Given the description of an element on the screen output the (x, y) to click on. 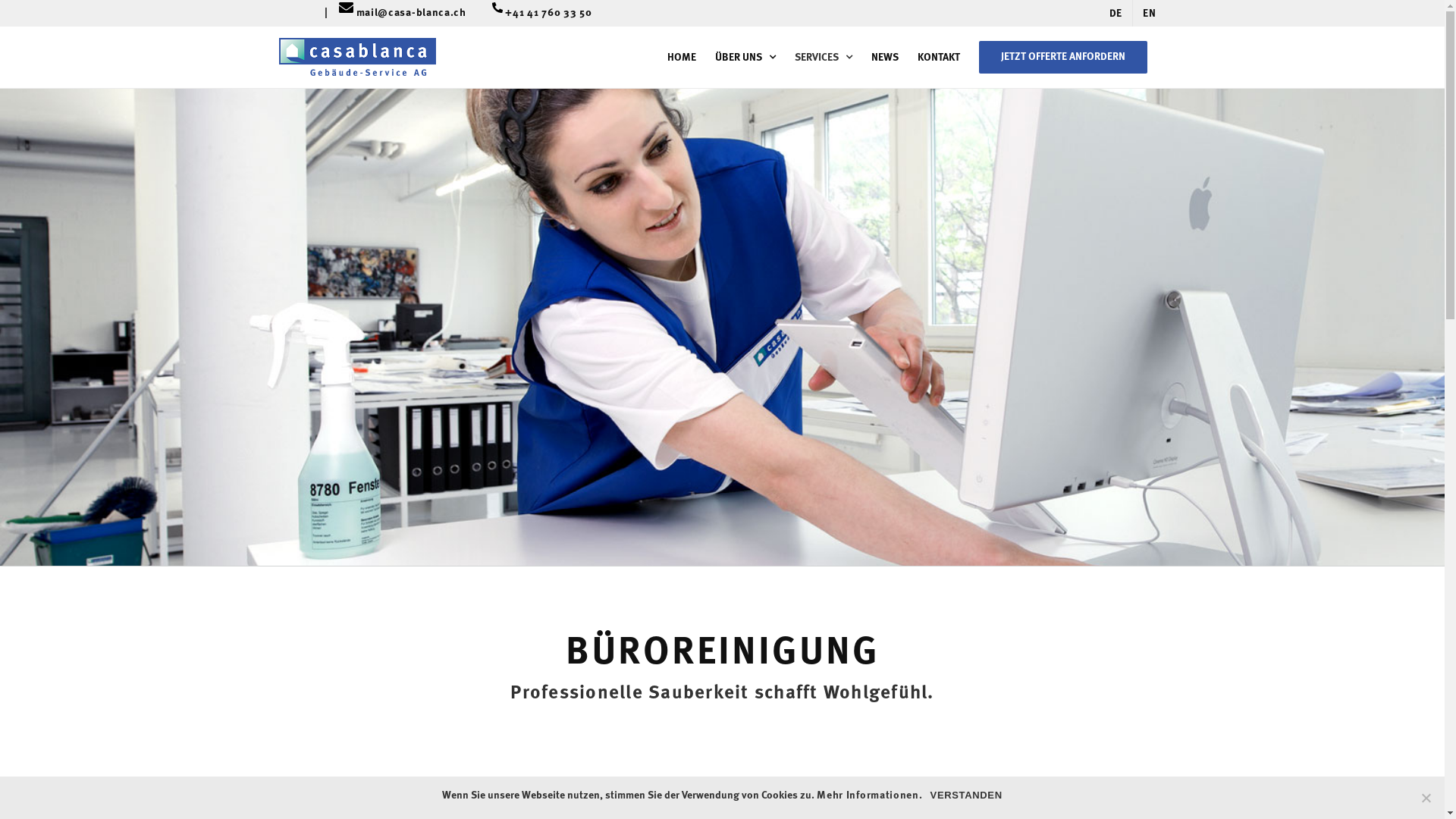
VERSTANDEN Element type: text (966, 795)
Xing Element type: hover (317, 12)
Phone Element type: text (491, 14)
No Element type: hover (1425, 797)
Mehr Informationen. Element type: text (869, 795)
HOME Element type: text (681, 56)
JETZT OFFERTE ANFORDERN Element type: text (1062, 56)
DE Element type: text (1115, 13)
Email Element type: text (345, 14)
EN Element type: text (1148, 13)
KONTAKT Element type: text (938, 56)
NEWS Element type: text (883, 56)
+41 41 760 33 50 Element type: text (548, 13)
mail@casa-blanca.ch Element type: text (416, 13)
SERVICES Element type: text (823, 56)
